Given the description of an element on the screen output the (x, y) to click on. 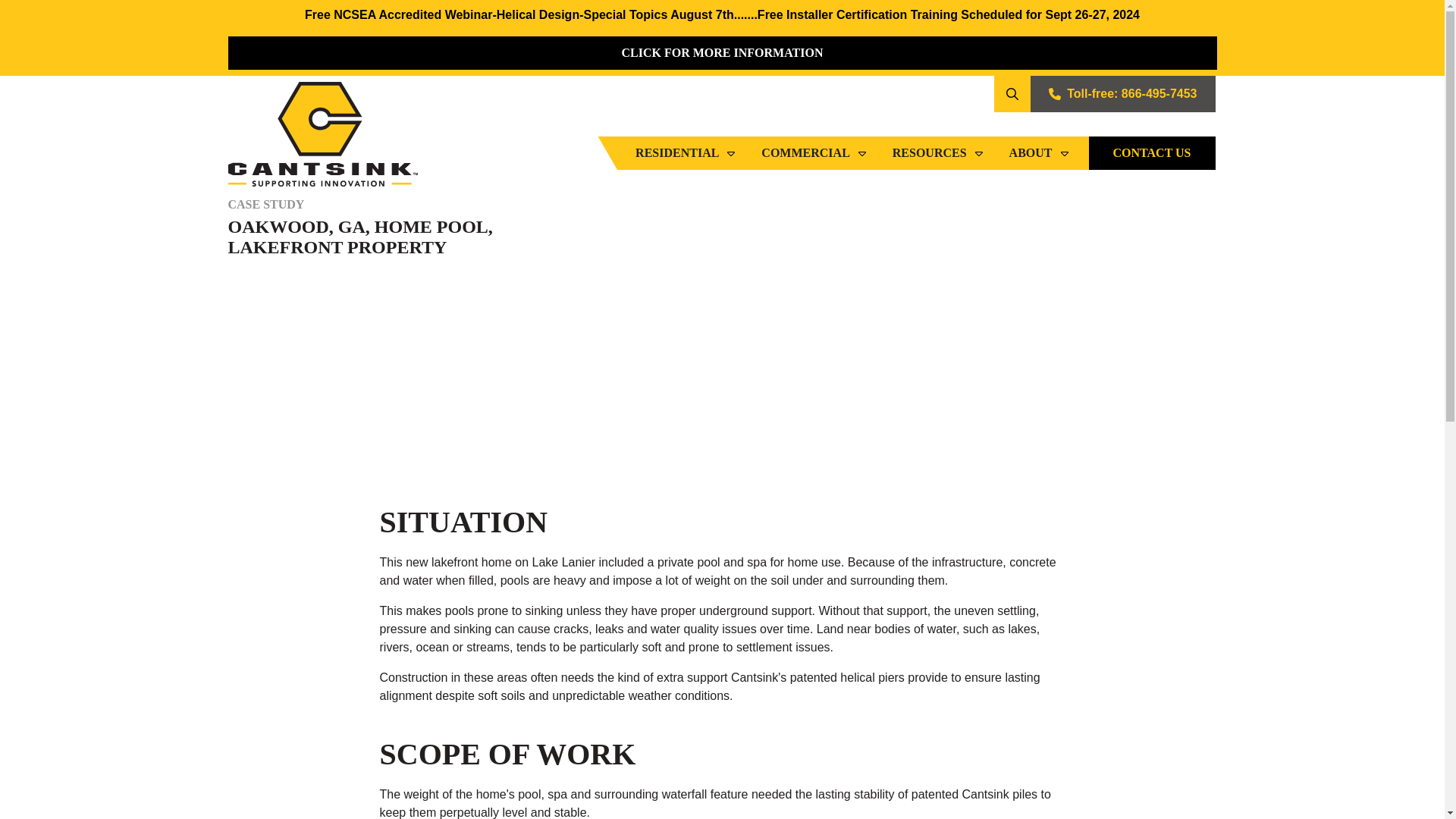
CLICK FOR MORE INFORMATION (721, 52)
RESOURCES (938, 152)
Toll-free: 866-495-7453 (1122, 94)
Show Search (1012, 94)
RESIDENTIAL (685, 152)
COMMERCIAL (814, 152)
